Given the description of an element on the screen output the (x, y) to click on. 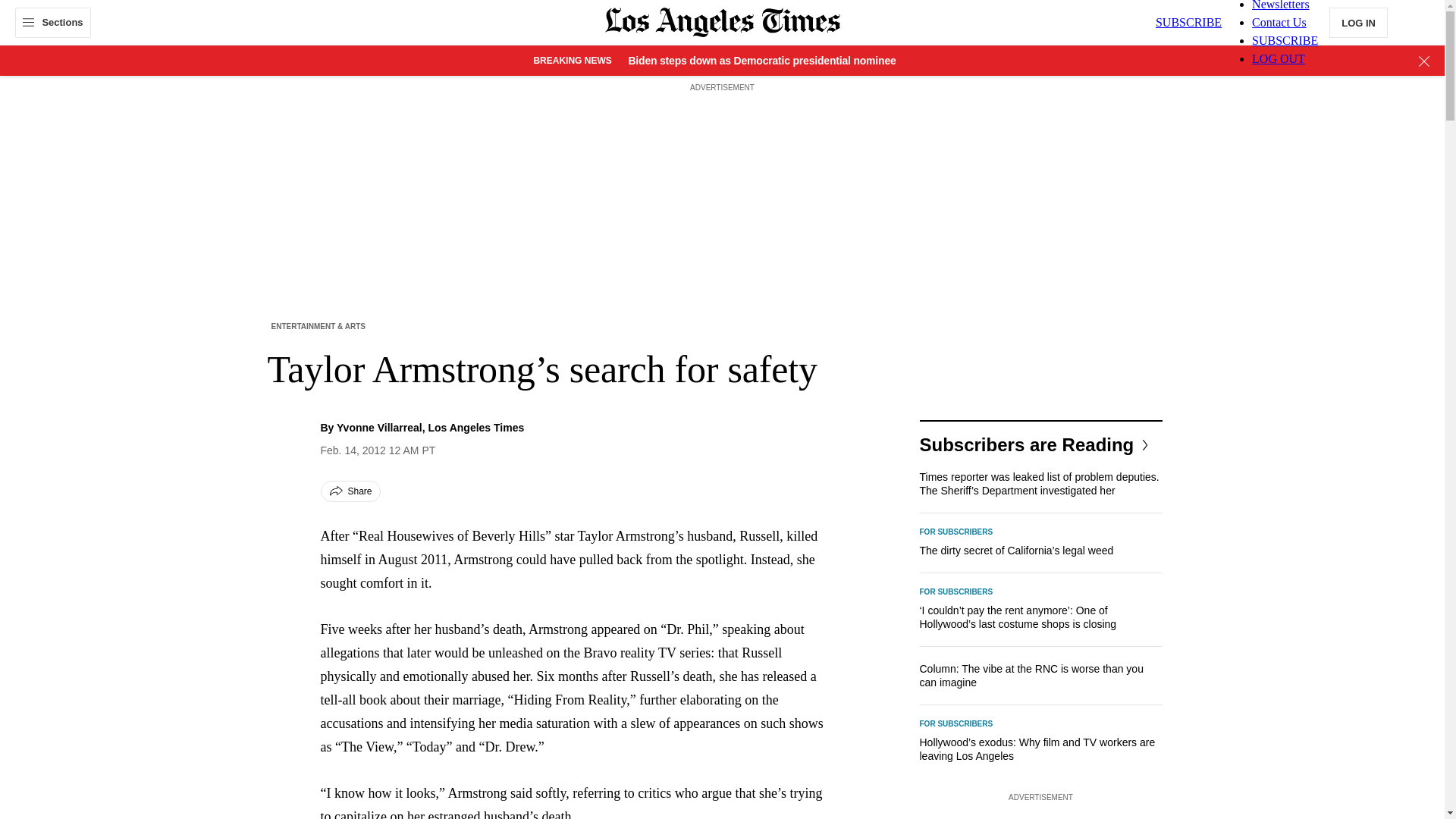
3rd party ad content (721, 130)
3rd party ad content (1040, 812)
